Given the description of an element on the screen output the (x, y) to click on. 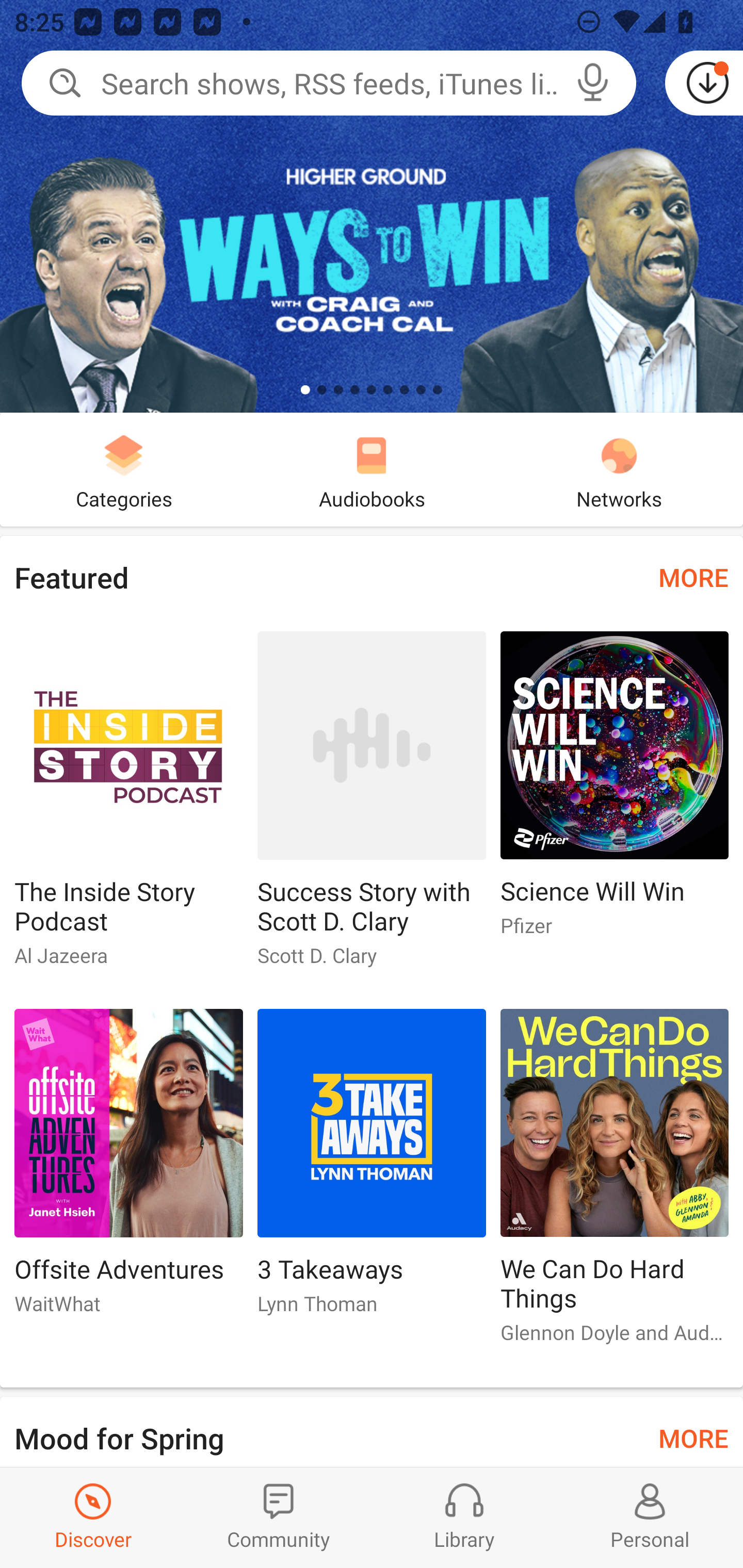
Ways To Win (371, 206)
Categories (123, 469)
Audiobooks (371, 469)
Networks (619, 469)
MORE (693, 576)
Science Will Win Science Will Win Pfizer (614, 792)
Offsite Adventures Offsite Adventures WaitWhat (128, 1169)
3 Takeaways 3 Takeaways Lynn Thoman (371, 1169)
MORE (693, 1436)
Discover (92, 1517)
Community (278, 1517)
Library (464, 1517)
Profiles and Settings Personal (650, 1517)
